Given the description of an element on the screen output the (x, y) to click on. 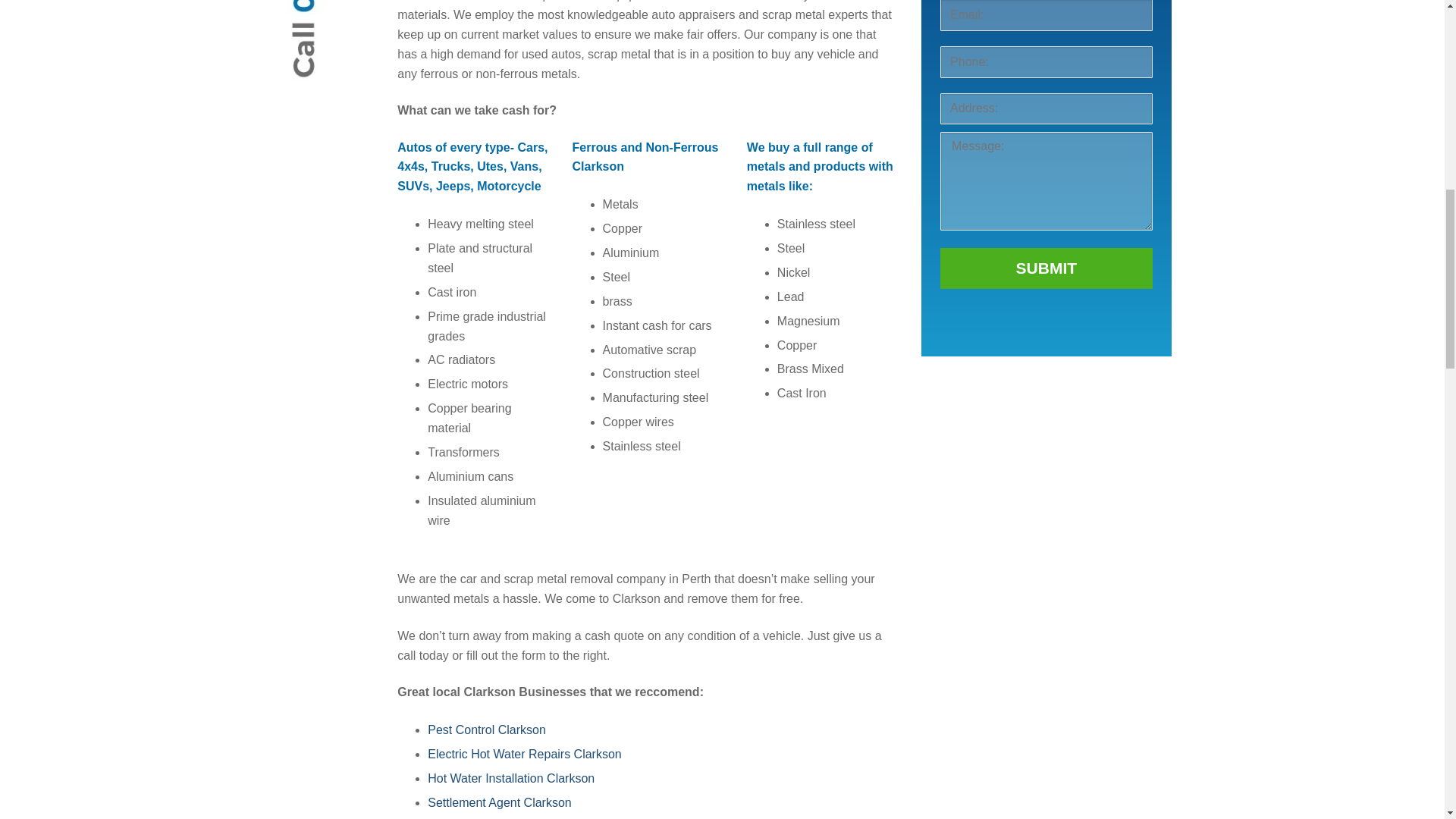
Submit (1045, 268)
Hot Water Installation Clarkson (511, 778)
Pest Control Clarkson (487, 729)
Settlement Agent Clarkson (499, 802)
Electric Hot Water Repairs Clarkson (524, 753)
